Given the description of an element on the screen output the (x, y) to click on. 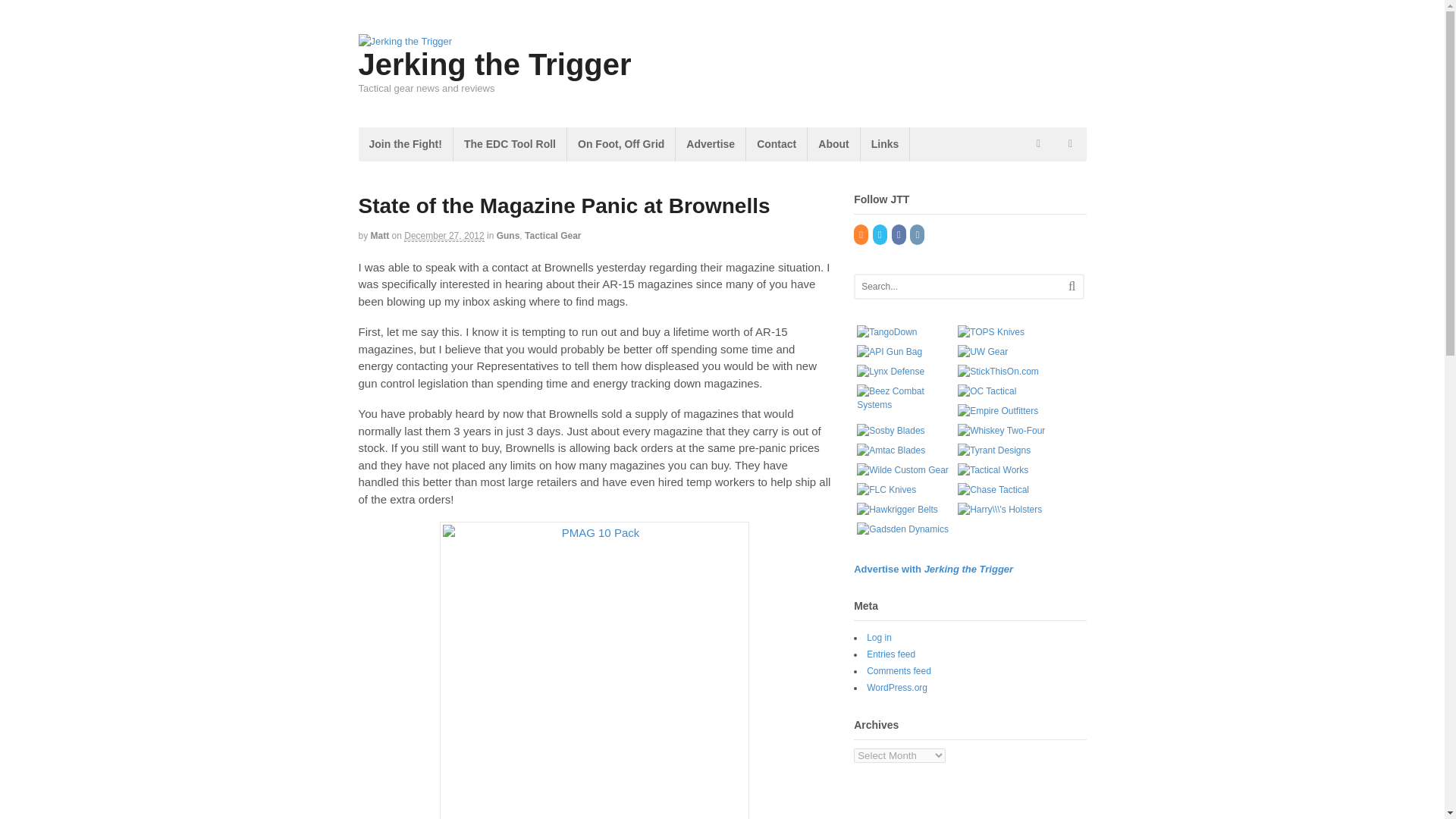
Search... (958, 286)
Contact (775, 144)
Tactical Gear (552, 235)
View all items in Guns (507, 235)
Posts by Matt (380, 235)
Links (885, 144)
About (833, 144)
Join the Fight! (404, 144)
2012-12-27T06:00:26-0800 (443, 235)
Tactical gear news and reviews (404, 41)
View all items in Tactical Gear (552, 235)
Jerking the Trigger (494, 64)
Advertise (710, 144)
Matt (380, 235)
On Foot, Off Grid (621, 144)
